Given the description of an element on the screen output the (x, y) to click on. 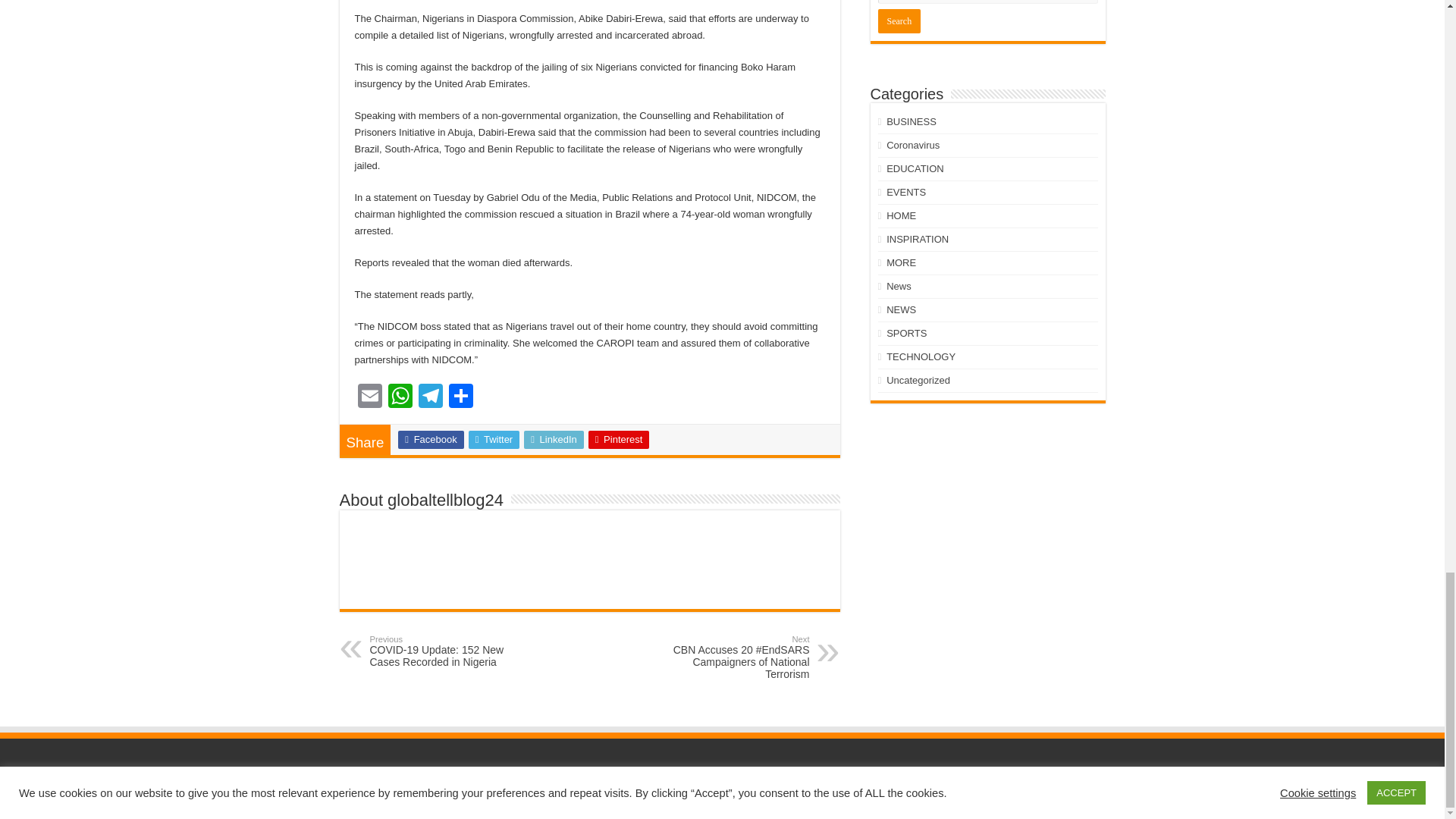
Search (899, 21)
Search (899, 21)
